Given the description of an element on the screen output the (x, y) to click on. 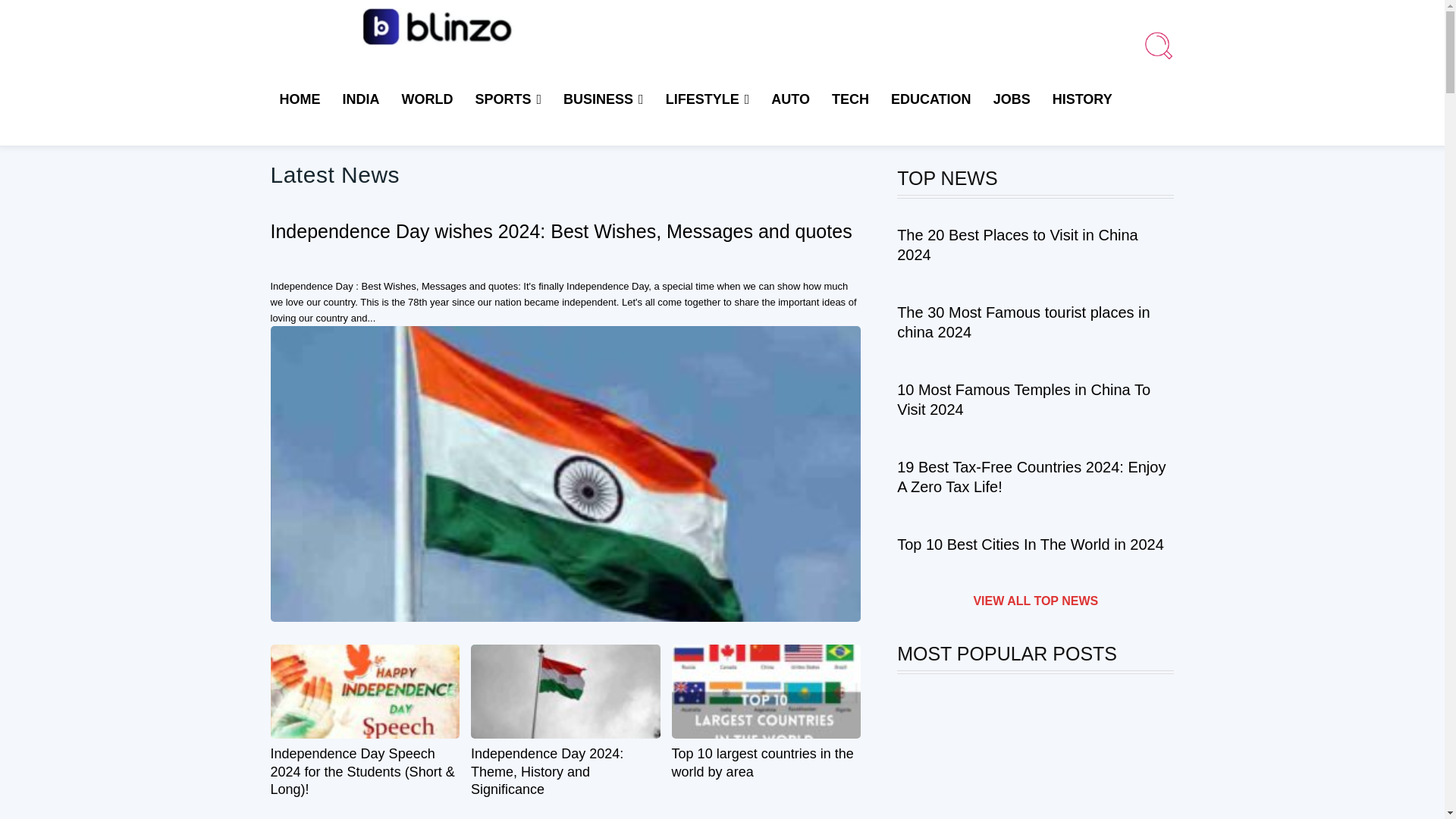
Search icon (1157, 44)
Top 10 largest countries in the world by area (766, 691)
Independence Day 2024: Theme, History and Significance (546, 771)
Independence Day 2024: Theme, History and Significance (565, 691)
Top 10 largest countries in the world by area (762, 762)
